Given the description of an element on the screen output the (x, y) to click on. 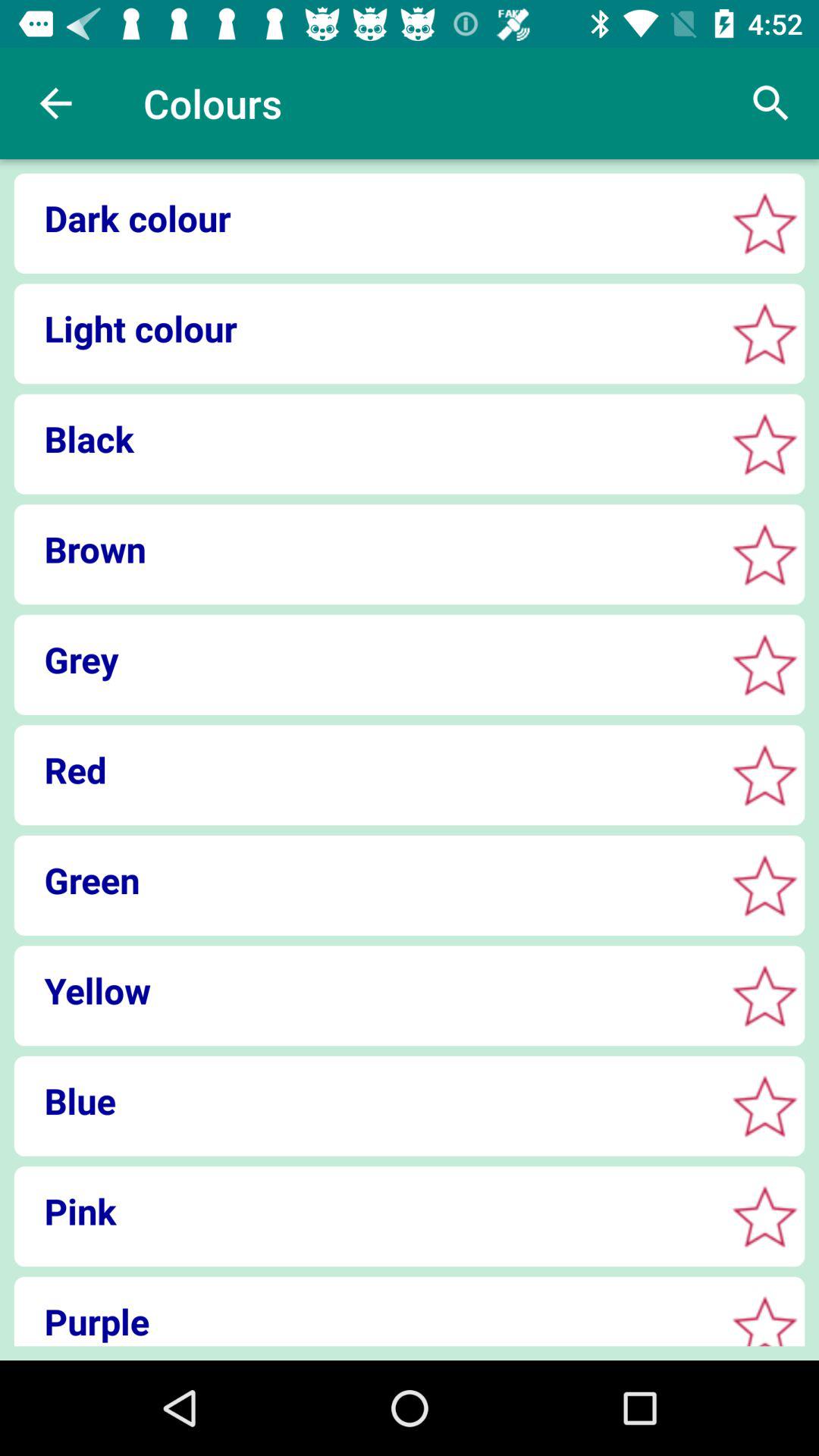
add to favorite (764, 775)
